Given the description of an element on the screen output the (x, y) to click on. 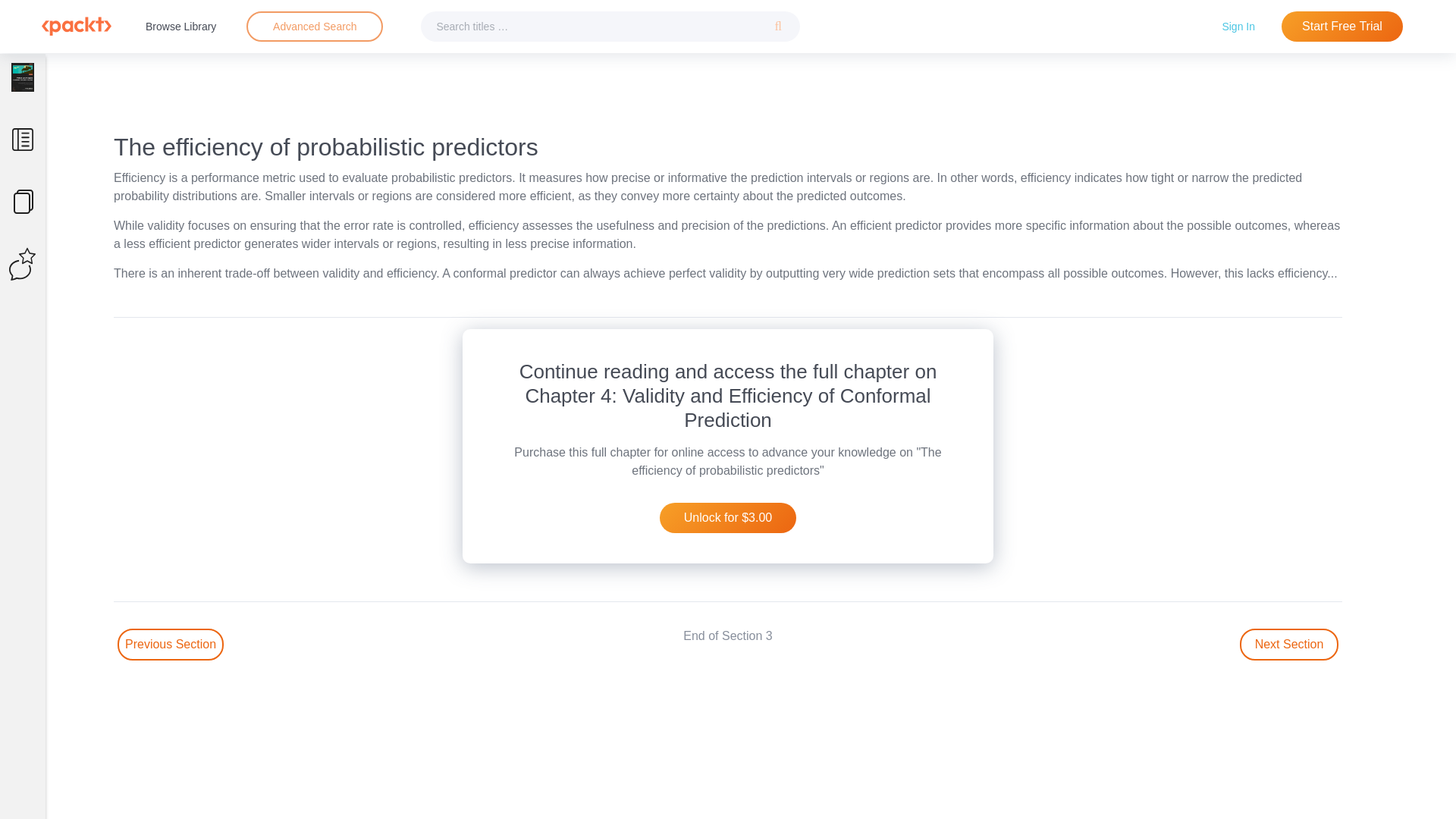
Advanced Search (314, 26)
Advanced search (314, 26)
Go to next section (1289, 644)
Advanced Search (315, 26)
Browse Library (180, 26)
Go to Previous section (170, 644)
Sign In (1238, 26)
Start Free Trial (1342, 26)
